Given the description of an element on the screen output the (x, y) to click on. 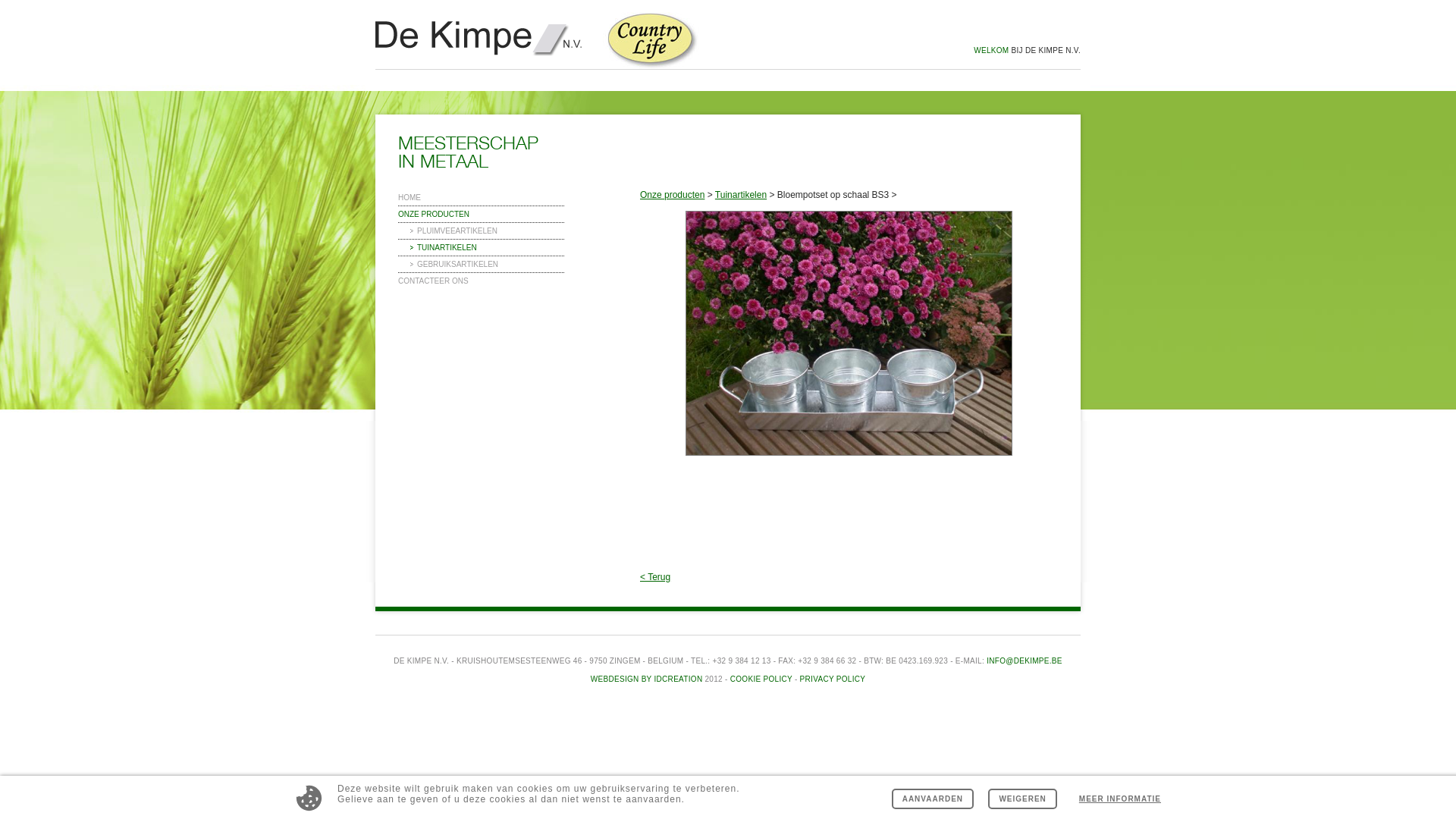
Tuinartikelen Element type: text (740, 194)
GEBRUIKSARTIKELEN Element type: text (481, 264)
TUINARTIKELEN Element type: text (481, 247)
PLUIMVEEARTIKELEN Element type: text (481, 230)
PRIVACY POLICY Element type: text (833, 678)
< Terug Element type: text (848, 576)
Weigeren Element type: text (1022, 798)
HOME Element type: text (481, 197)
ONZE PRODUCTEN Element type: text (481, 214)
Onze producten Element type: text (672, 194)
MEER INFORMATIE Element type: text (1119, 798)
WEBDESIGN BY IDCREATION Element type: text (646, 678)
CONTACTEER ONS Element type: text (481, 280)
COOKIE POLICY Element type: text (761, 678)
INFO@DEKIMPE.BE Element type: text (1024, 660)
AANVAARDEN Element type: text (932, 798)
